Given the description of an element on the screen output the (x, y) to click on. 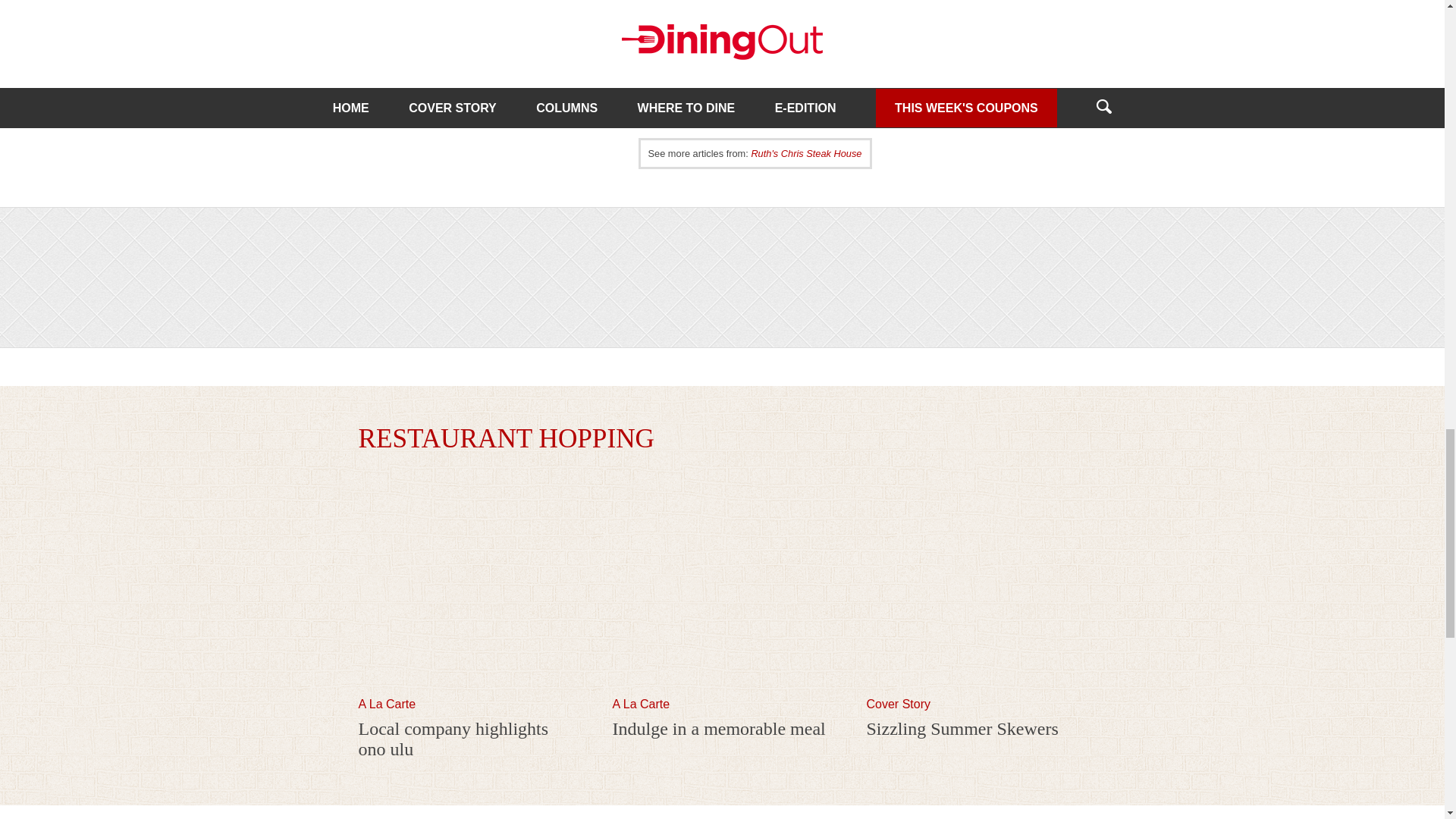
A La Carte (640, 703)
Local company highlights ono ulu (453, 739)
Cover Story (898, 703)
Indulge in a memorable meal (718, 728)
Local company highlights ono ulu (468, 689)
A La Carte (640, 703)
A La Carte (386, 703)
Indulge in a memorable meal (722, 689)
Indulge in a memorable meal (718, 728)
A La Carte (386, 703)
Sizzling Summer Skewers (976, 689)
Local company highlights ono ulu (453, 739)
Ruth's Chris Steak House (806, 153)
